Given the description of an element on the screen output the (x, y) to click on. 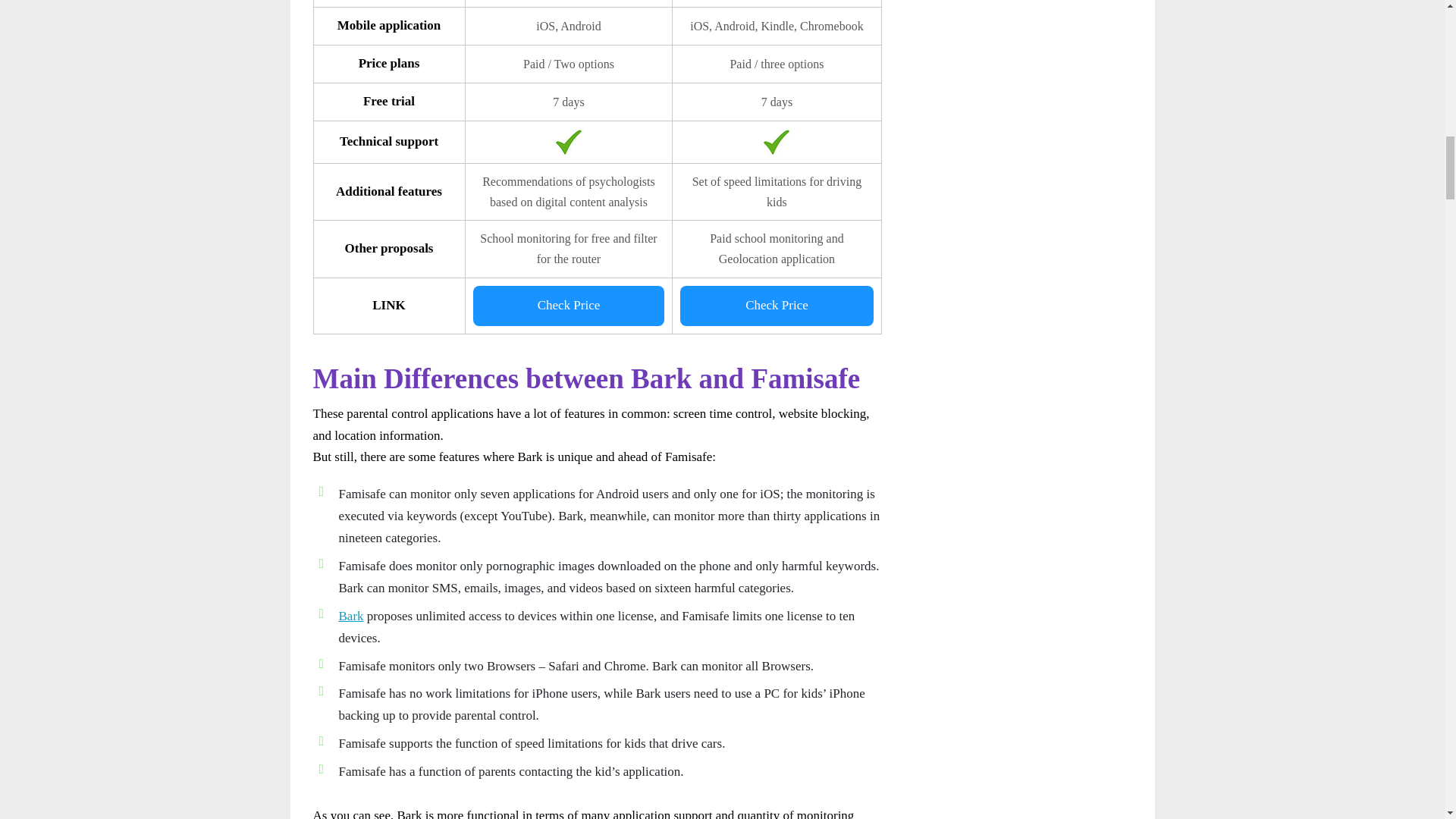
Check Price (569, 305)
Bark (349, 616)
Check Price (775, 305)
